Given the description of an element on the screen output the (x, y) to click on. 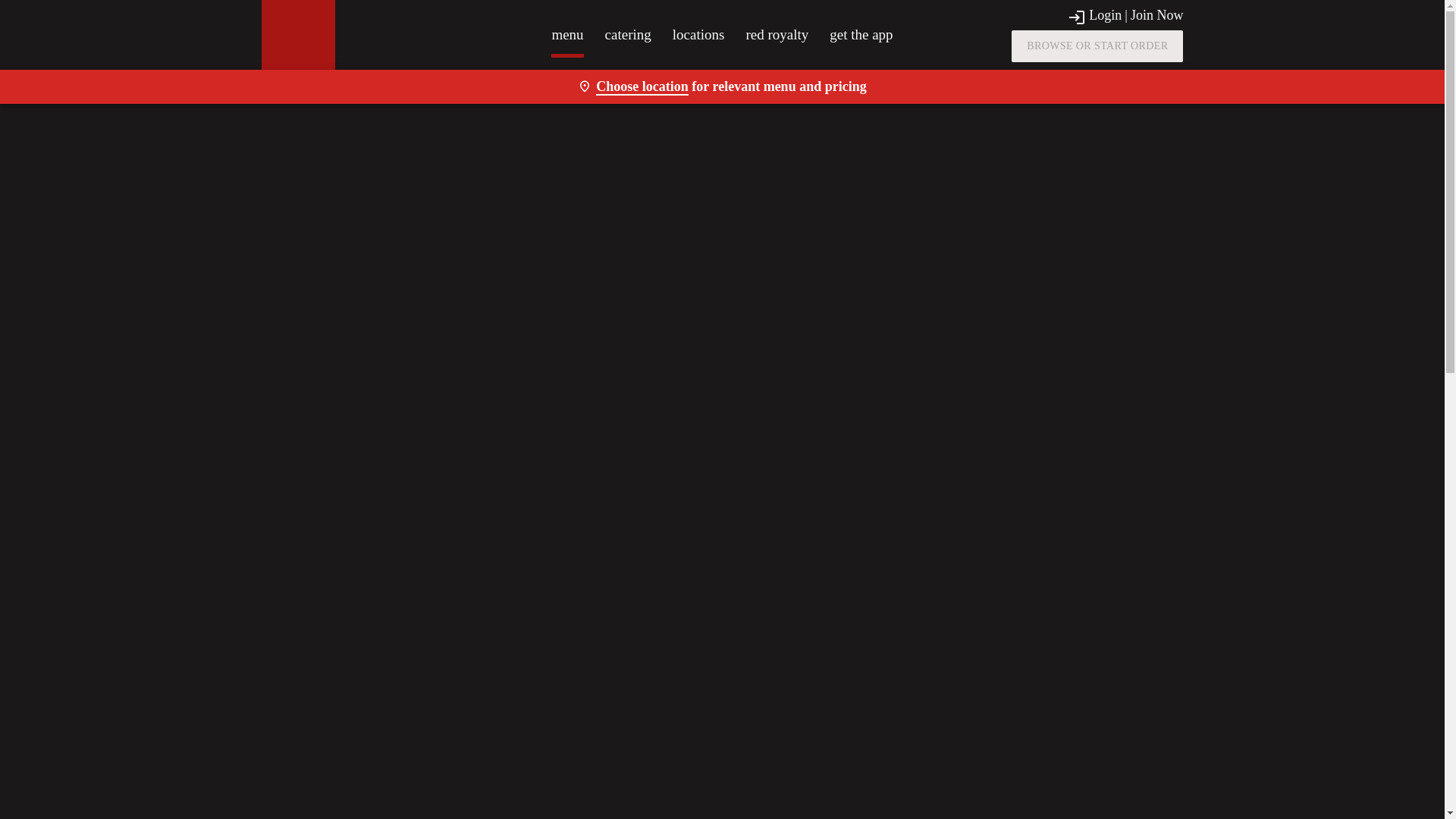
red royalty (776, 34)
locations (698, 34)
catering (627, 34)
menu (567, 34)
BROWSE OR START ORDER (1096, 46)
get the app (860, 34)
